Given the description of an element on the screen output the (x, y) to click on. 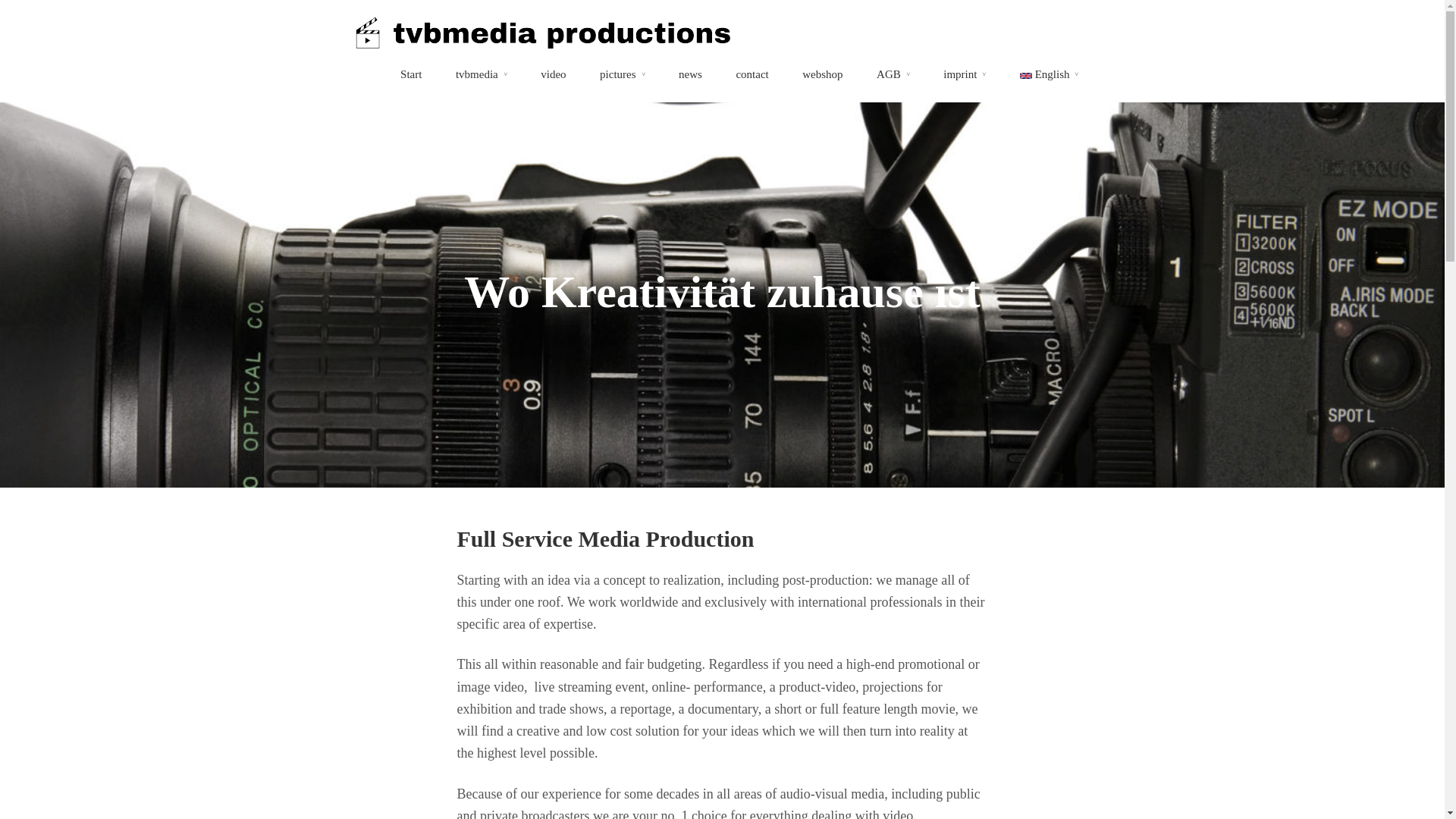
 English (1049, 74)
imprint (964, 74)
tvbmedia productions (539, 44)
AGB (893, 74)
news (689, 74)
pictures (622, 74)
webshop (822, 74)
video (553, 74)
tvbmedia (480, 74)
contact (751, 74)
Start (411, 74)
